Given the description of an element on the screen output the (x, y) to click on. 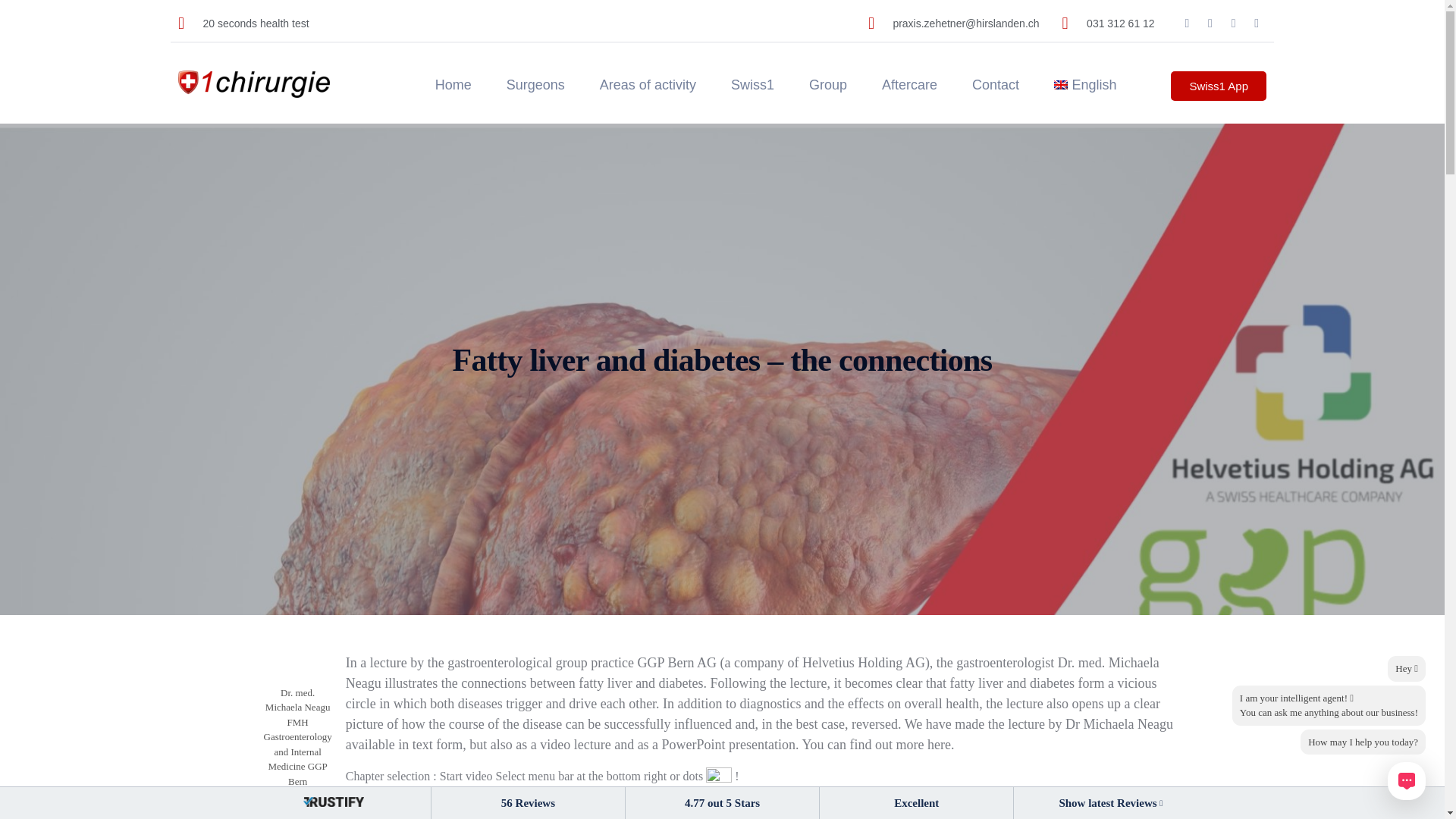
Swiss1 (751, 85)
Group (827, 85)
Home (453, 85)
Aftercare (909, 85)
Areas of activity (647, 85)
20 seconds health test (242, 23)
031 312 61 12 (1108, 23)
Show latest Reviews (1109, 801)
English (1084, 85)
Contact (995, 85)
English (1084, 85)
Surgeons (535, 85)
